Given the description of an element on the screen output the (x, y) to click on. 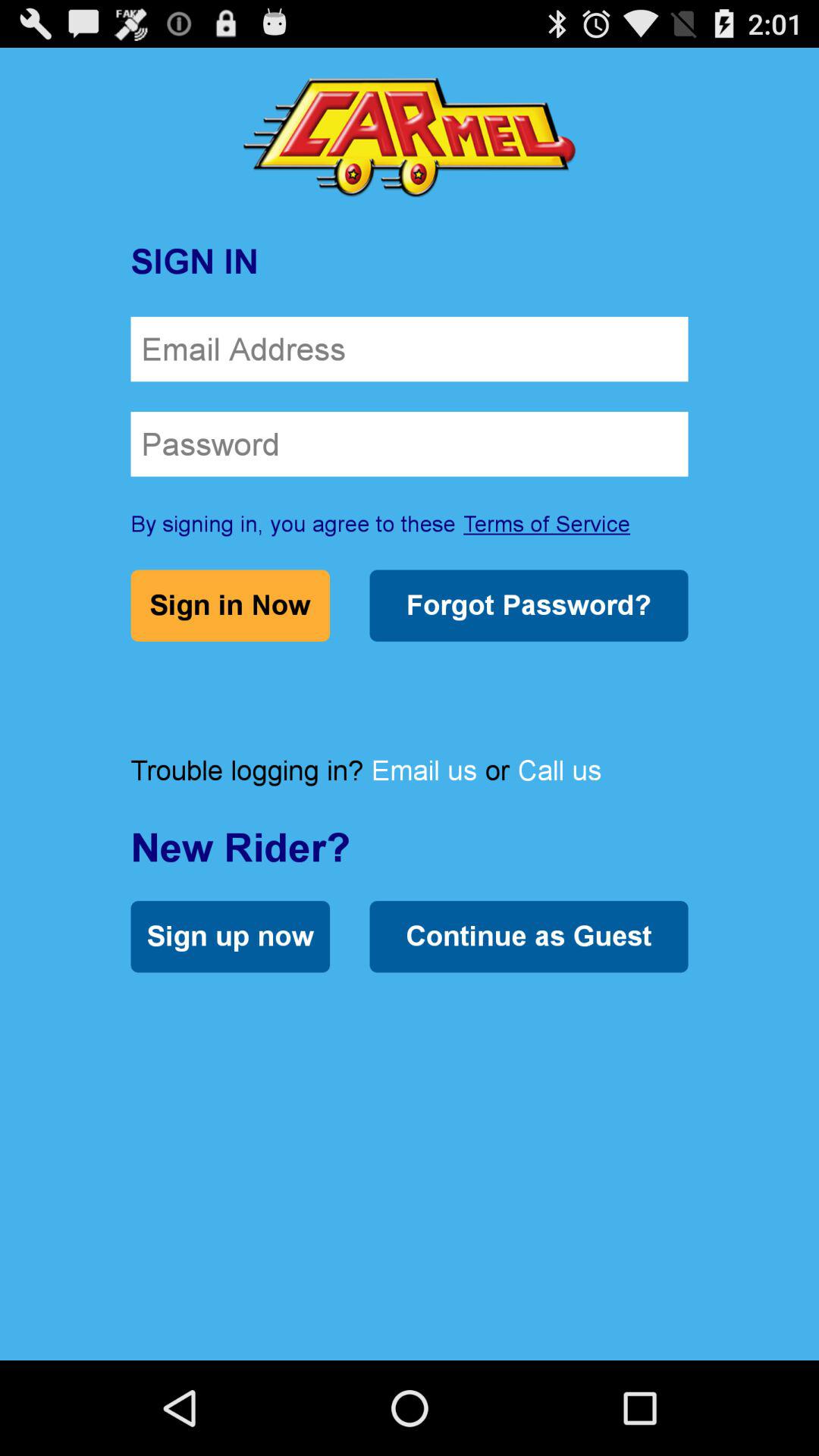
jump to the  call us  item (559, 770)
